Given the description of an element on the screen output the (x, y) to click on. 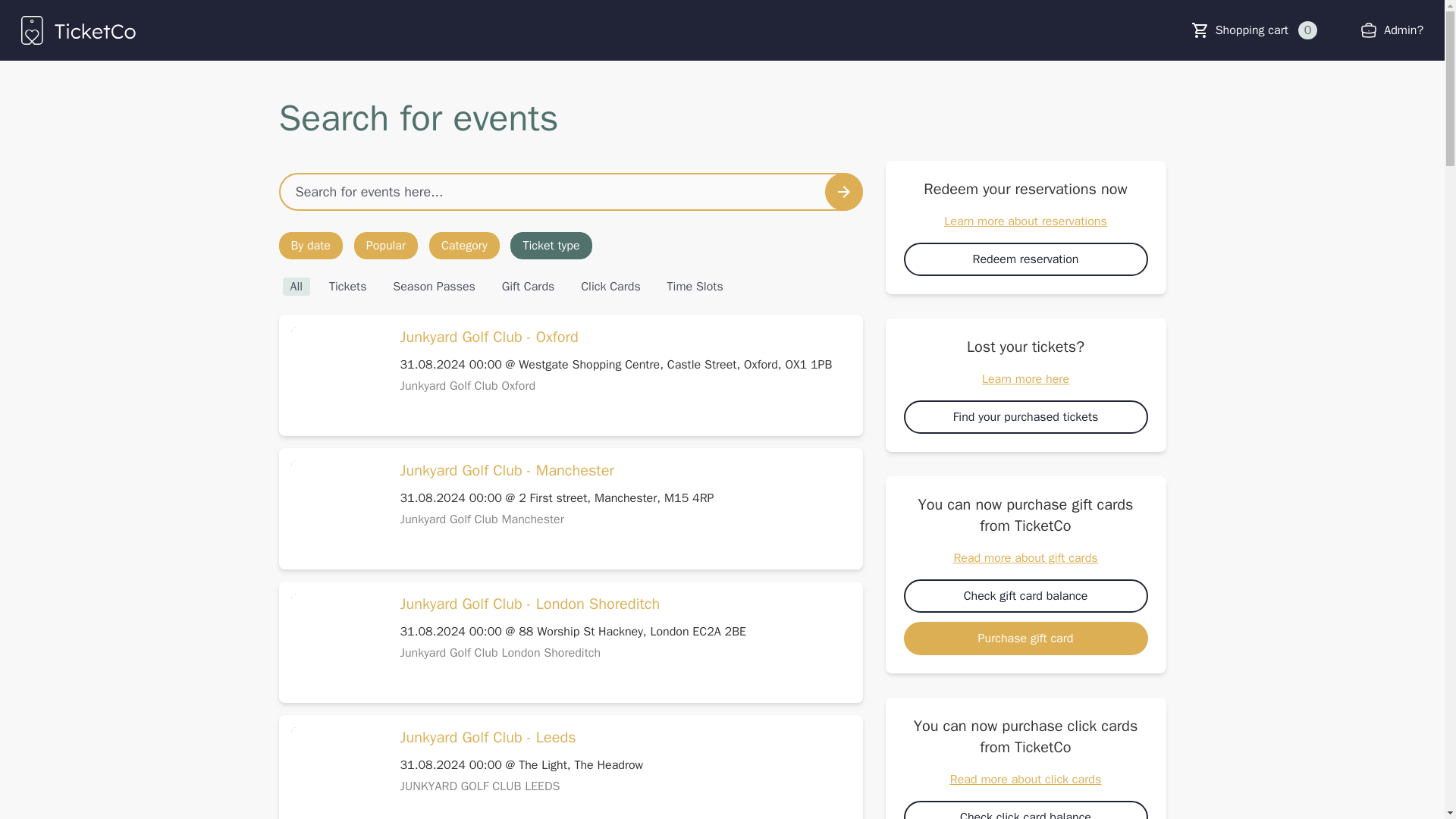
Junkyard Golf Club London Shoreditch (500, 652)
Popular (385, 245)
Gift Cards (528, 286)
Junkyard Golf Club - Oxford (489, 337)
Junkyard Golf Club Oxford (467, 385)
Shopping cart 0 (1266, 30)
JUNKYARD GOLF CLUB LEEDS (480, 785)
Junkyard Golf Club - London Shoreditch (530, 604)
Junkyard Golf Club - Manchester (507, 470)
Tickets (347, 286)
